Given the description of an element on the screen output the (x, y) to click on. 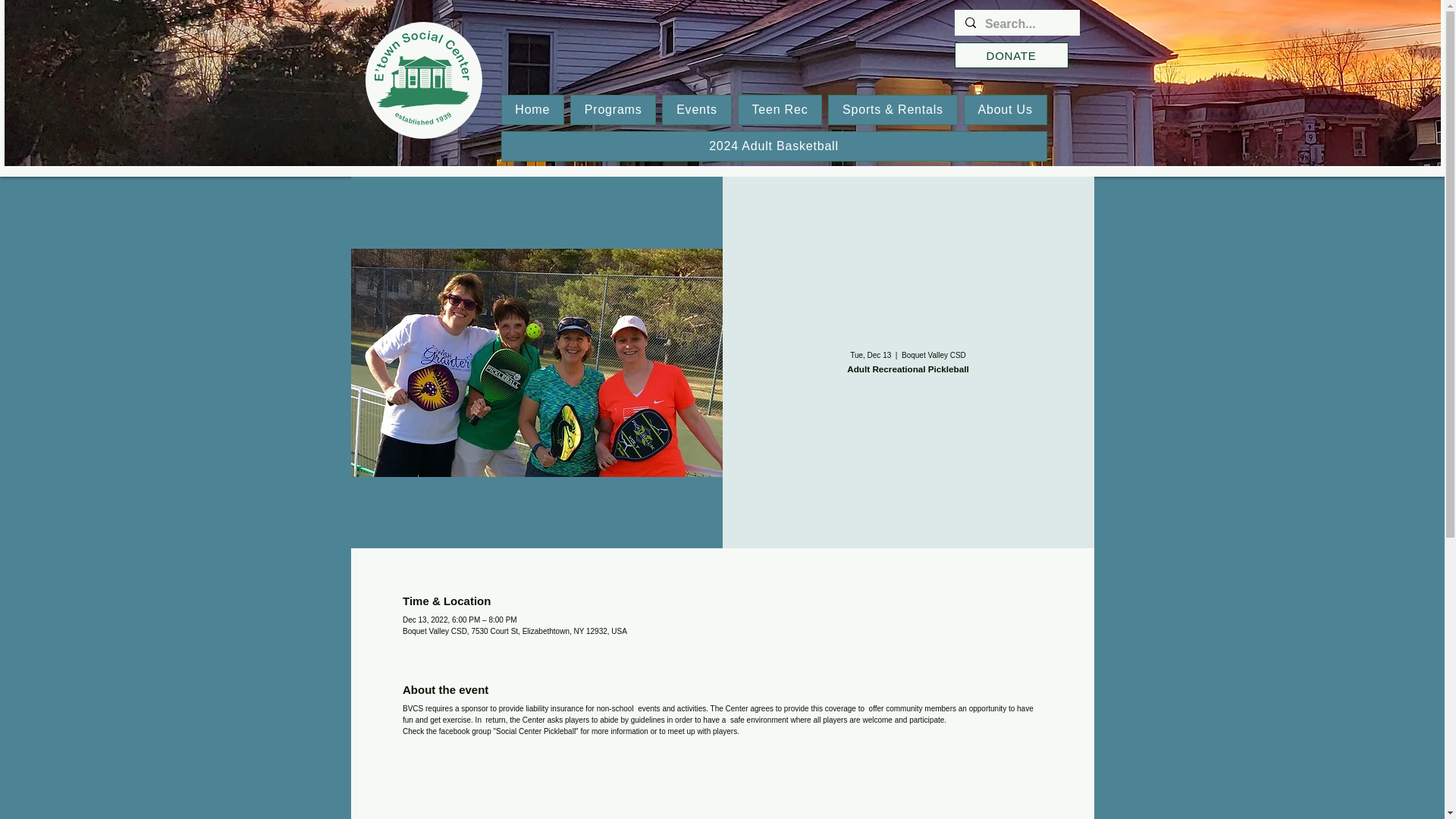
Home (531, 110)
2024 Adult Basketball (773, 146)
Events (696, 110)
Teen Rec (780, 110)
About Us (1004, 110)
